Given the description of an element on the screen output the (x, y) to click on. 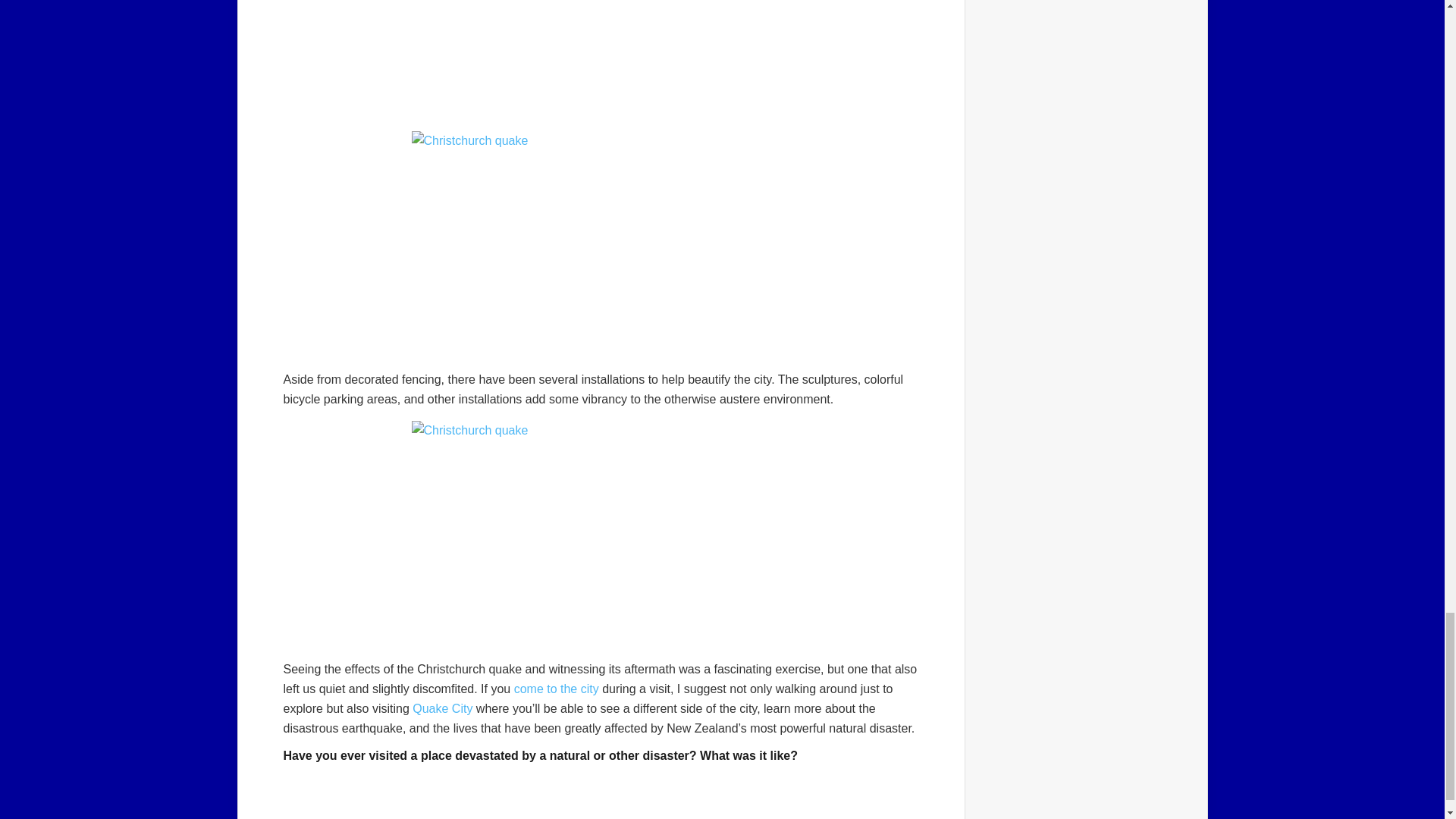
Abandoned building (600, 244)
Astroturf lounging (600, 534)
Only a wall remains (600, 58)
Traveling between the cities of New Zealand (555, 688)
